Given the description of an element on the screen output the (x, y) to click on. 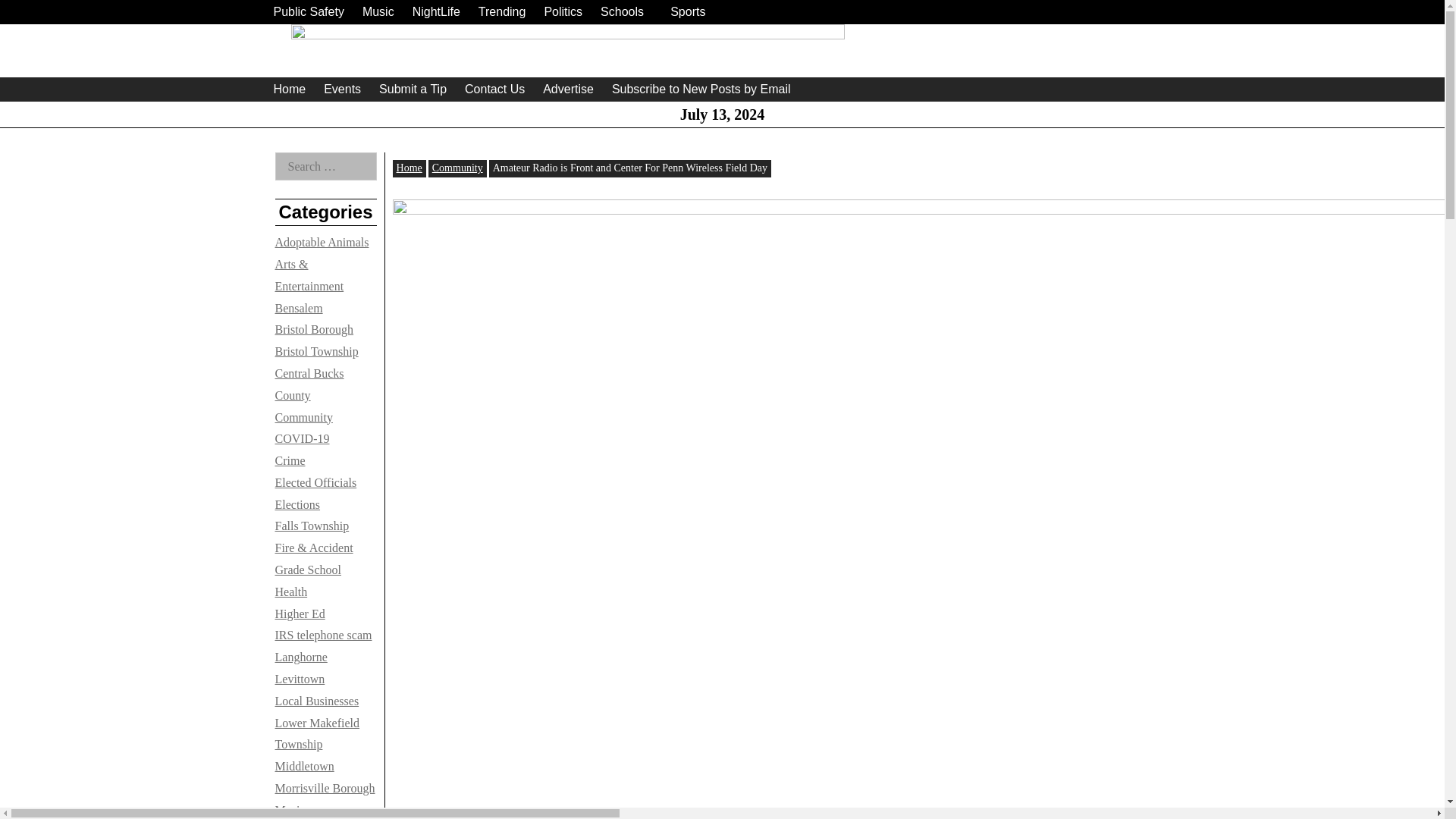
Home (288, 88)
Public Safety (307, 12)
Home (409, 167)
Music (378, 12)
Events (341, 88)
Trending (501, 12)
Contact Us (494, 88)
Politics (562, 12)
Adoptable Animals (321, 241)
Advertise (568, 88)
